Given the description of an element on the screen output the (x, y) to click on. 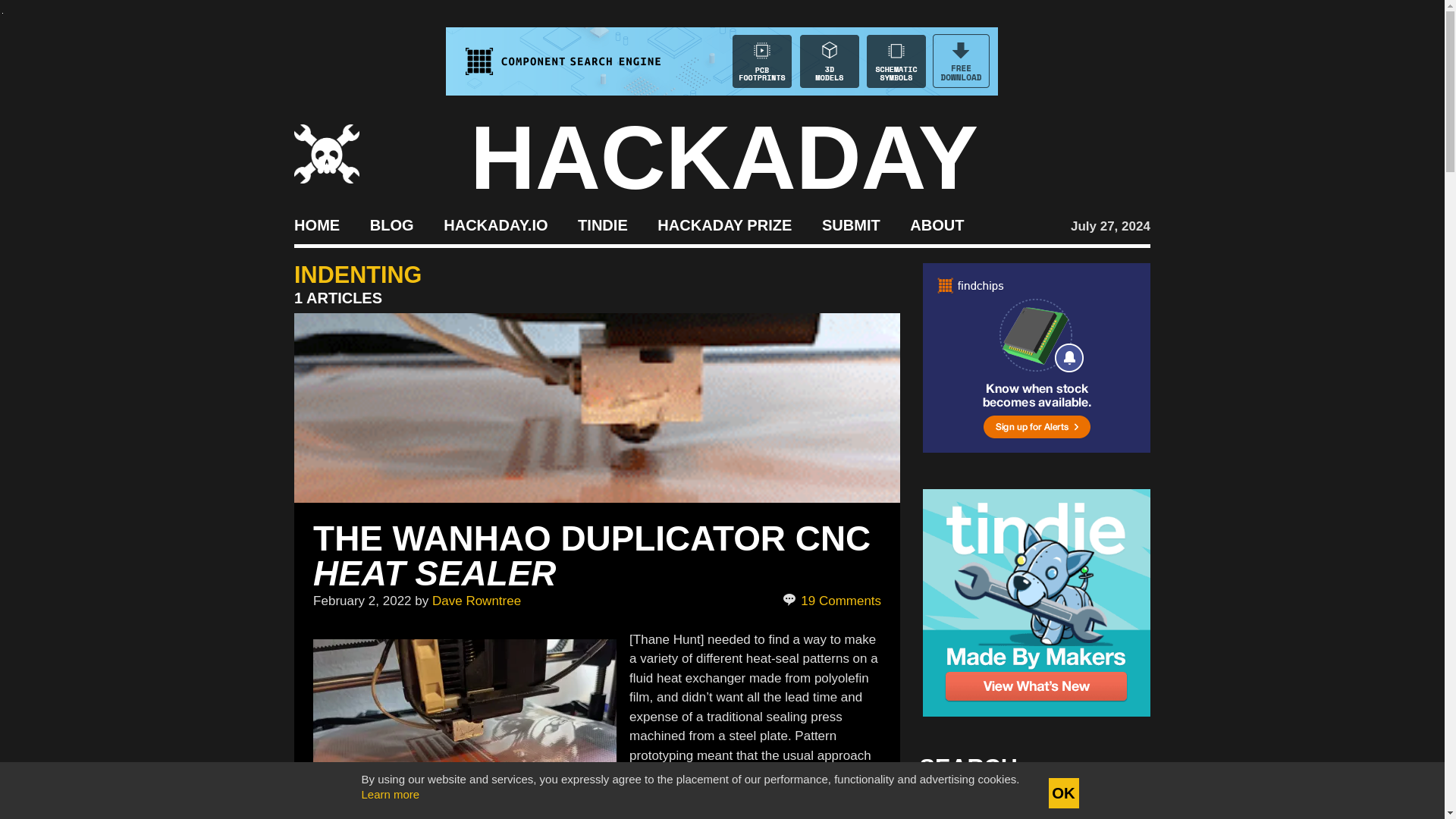
HACKADAY.IO (495, 224)
ABOUT (936, 224)
19 Comments (832, 600)
Build Something that Matters (725, 224)
THE WANHAO DUPLICATOR CNC HEAT SEALER (591, 555)
Search (1115, 808)
February 2, 2022 (361, 599)
BLOG (391, 224)
HACKADAY PRIZE (725, 224)
HOME (316, 224)
Posts by Dave Rowntree (476, 599)
Search (1115, 808)
February 2, 2022 - 1:00 pm (361, 599)
SUBMIT (851, 224)
TINDIE (602, 224)
